Given the description of an element on the screen output the (x, y) to click on. 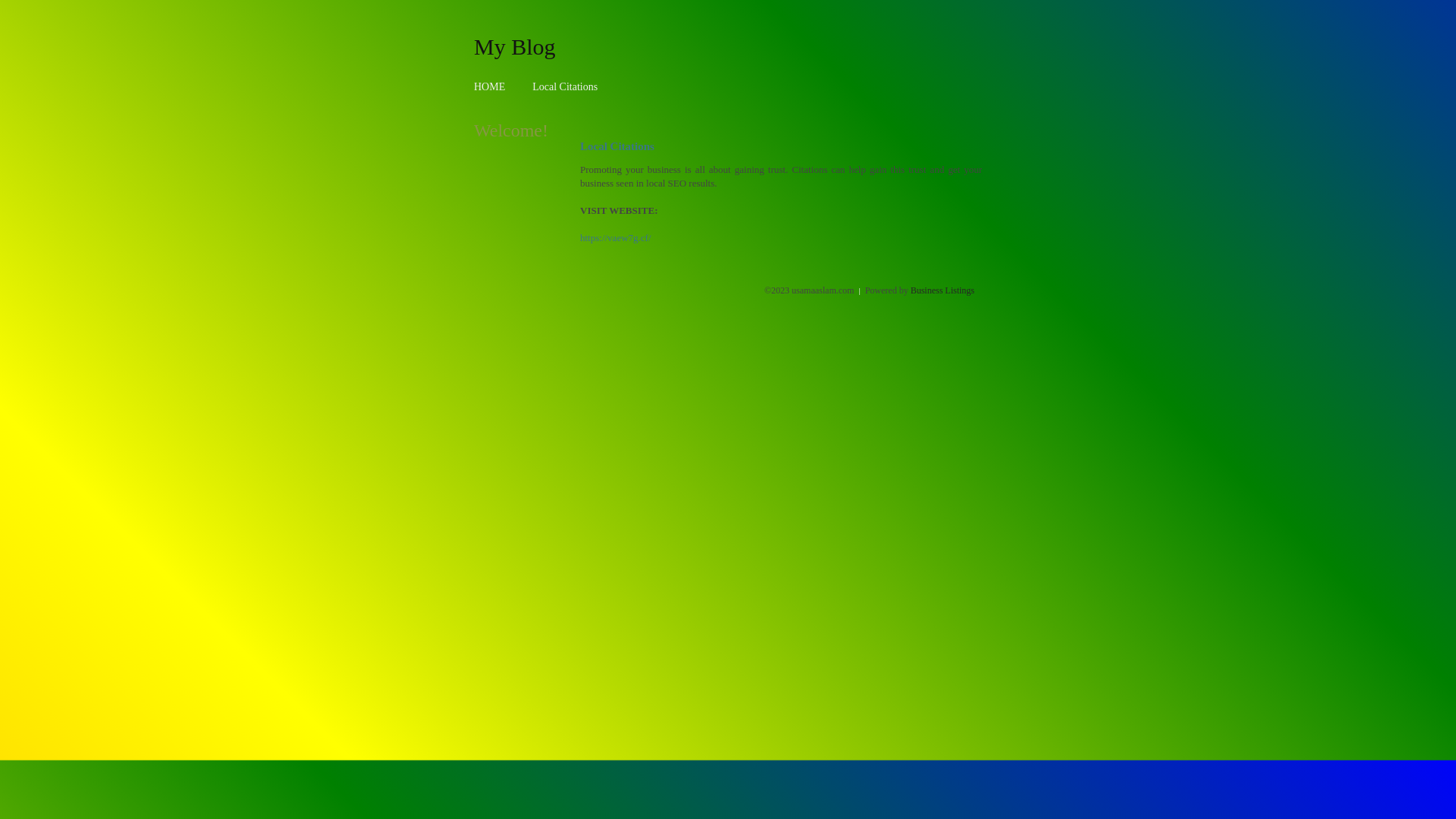
Business Listings Element type: text (942, 290)
My Blog Element type: text (514, 46)
https://vaew7g.cf/ Element type: text (615, 237)
HOME Element type: text (489, 86)
Local Citations Element type: text (564, 86)
